Given the description of an element on the screen output the (x, y) to click on. 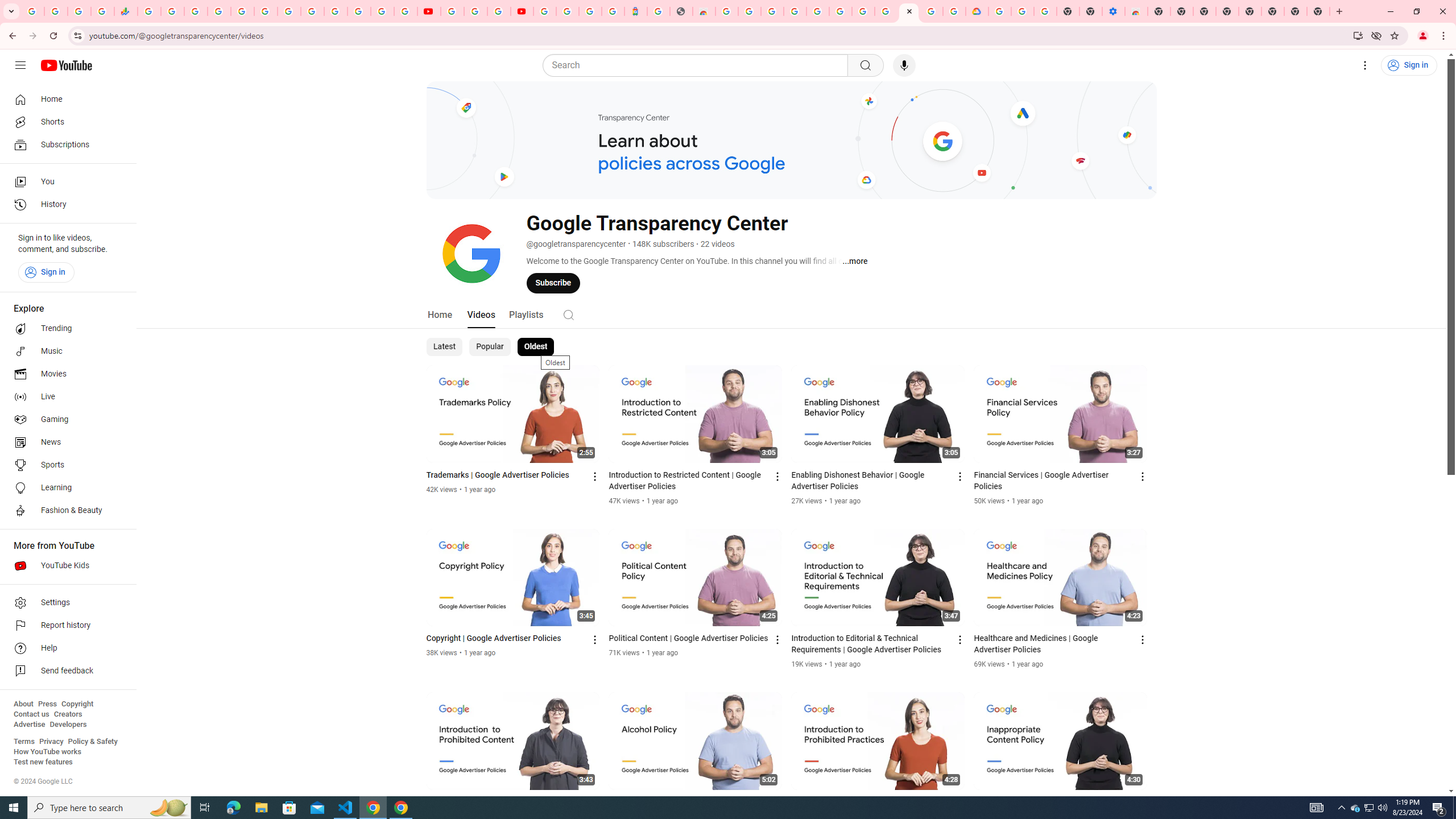
Oldest (534, 346)
Privacy (51, 741)
Search (697, 65)
Creators (67, 714)
Fashion & Beauty (64, 510)
Copyright (77, 703)
Sign in - Google Accounts (218, 11)
Test new features (42, 761)
History (64, 204)
YouTube Home (66, 65)
Videos (481, 314)
Ad Settings (794, 11)
